Given the description of an element on the screen output the (x, y) to click on. 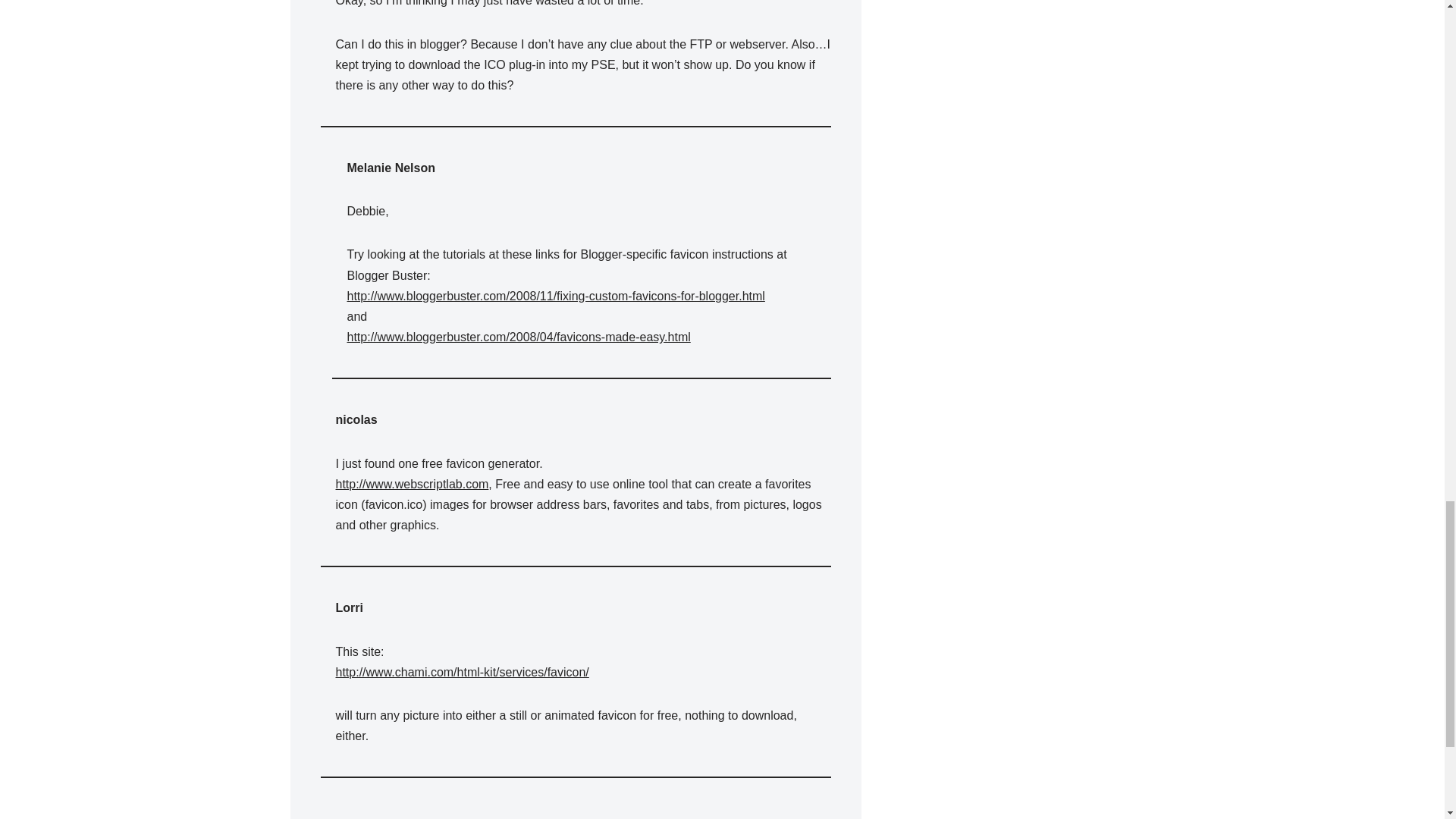
nicolas (355, 419)
Melanie Nelson (391, 167)
